Given the description of an element on the screen output the (x, y) to click on. 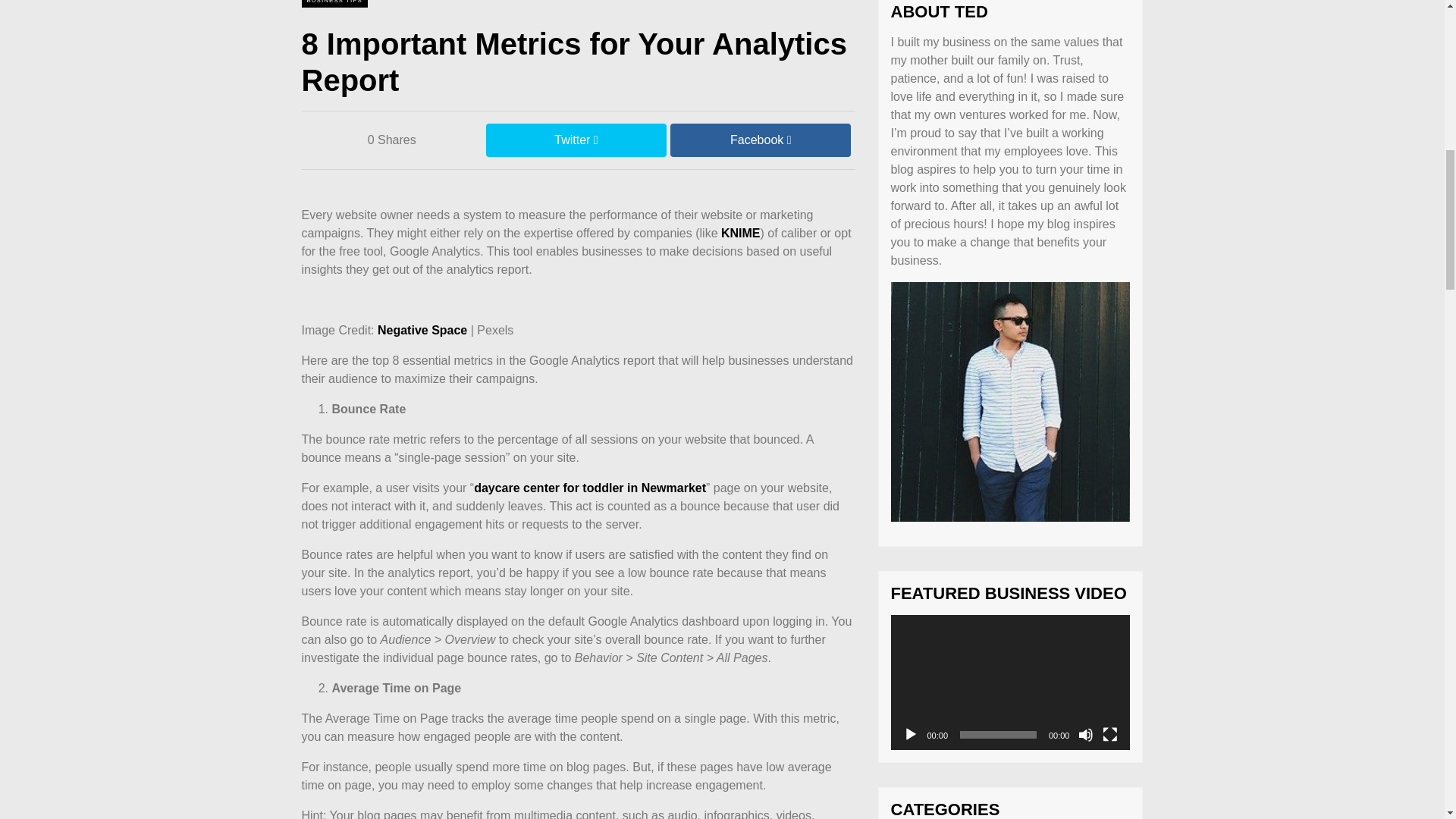
Facebook (759, 140)
KNIME (740, 232)
0 Shares (391, 140)
Fullscreen (1110, 734)
Play (909, 734)
Mute (1085, 734)
daycare center for toddler in Newmarket (590, 487)
BUSINESS TIPS (333, 2)
Twitter (576, 140)
Negative Space (422, 329)
